Given the description of an element on the screen output the (x, y) to click on. 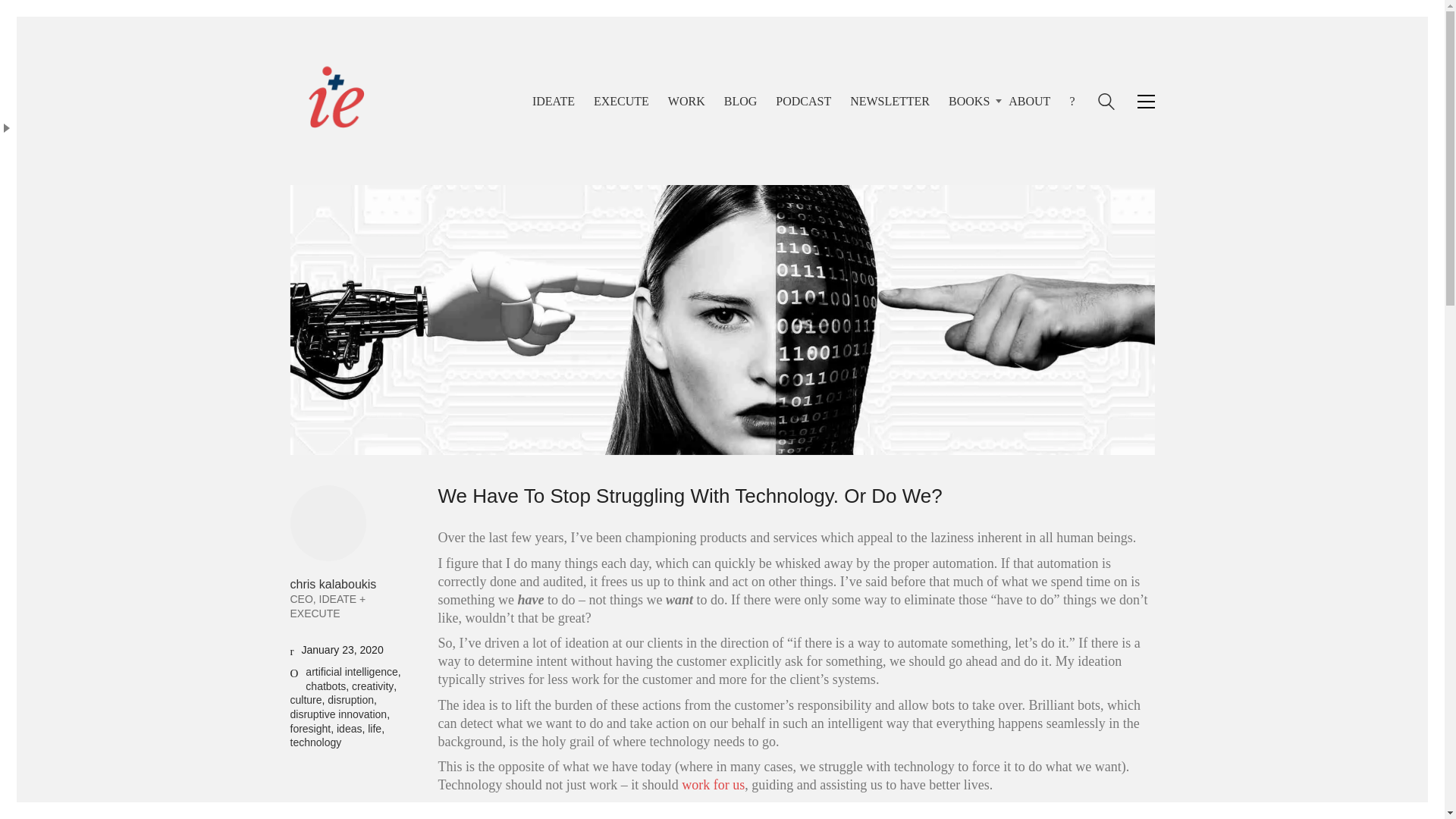
NEWSLETTER (890, 100)
PODCAST (803, 100)
WORK (686, 100)
BLOG (740, 100)
EXECUTE (621, 100)
IDEATE (553, 100)
BOOKS (969, 100)
ABOUT (1029, 100)
